Given the description of an element on the screen output the (x, y) to click on. 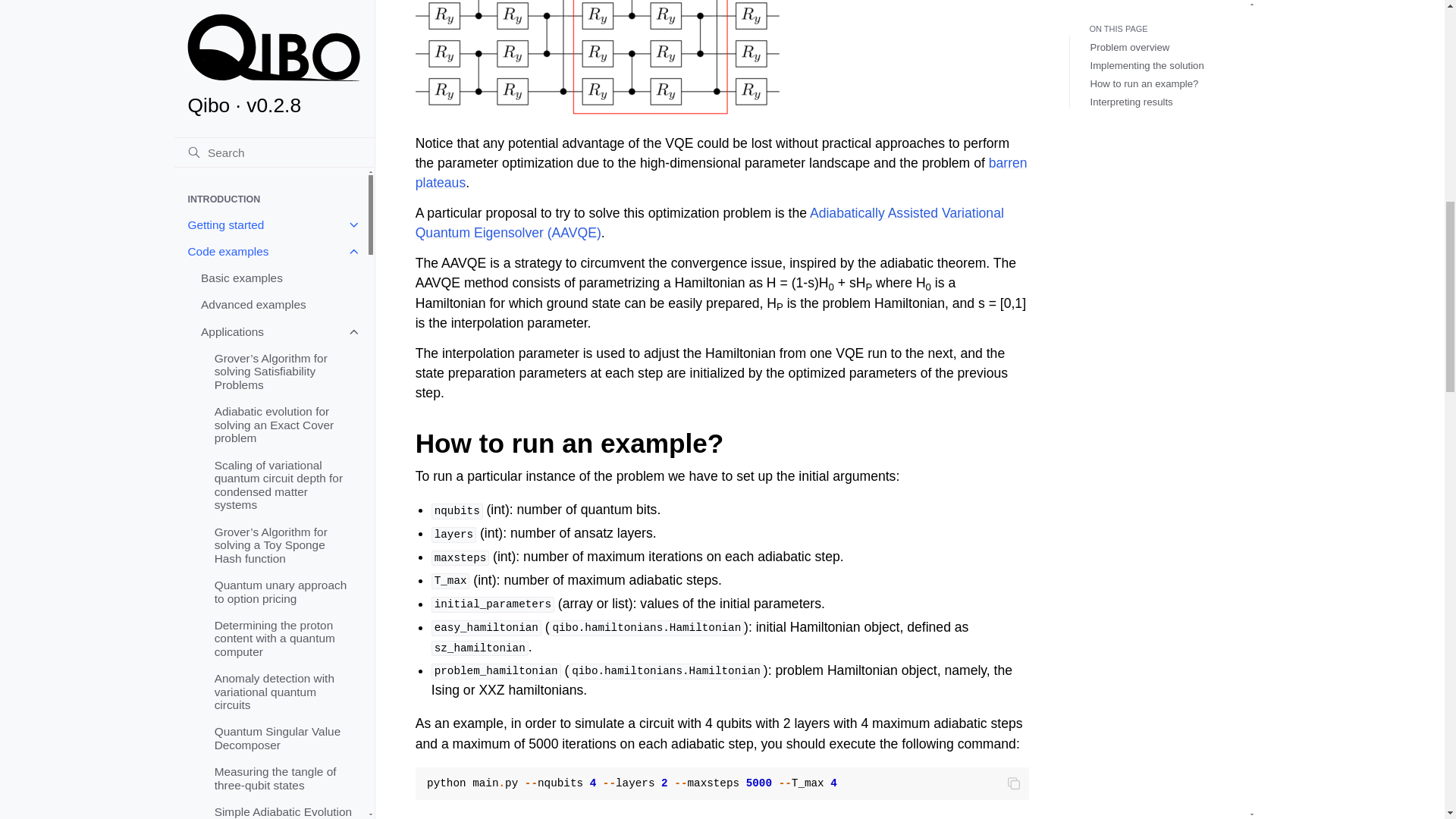
Data reuploading for a universal quantum classifier (283, 812)
Quantum Fourier Iterative Amplitude Estimation (283, 453)
Variational Quantum Classifier (283, 786)
Variational Quantum Classifier (283, 199)
Feedback-based ALgorithm for Quantum OptimizatioN - FALQON (283, 126)
Quantum autoencoders with enhanced data encoding (283, 406)
Maximal violation of Bell inequalities variationally (283, 79)
A General Grover Model (283, 166)
Quantum autoencoder for data compression (283, 359)
Data reuploading for a universal quantum classifier (283, 246)
Simple Adiabatic Evolution Examples (283, 9)
Quantum k-medians clustering (283, 533)
